Given the description of an element on the screen output the (x, y) to click on. 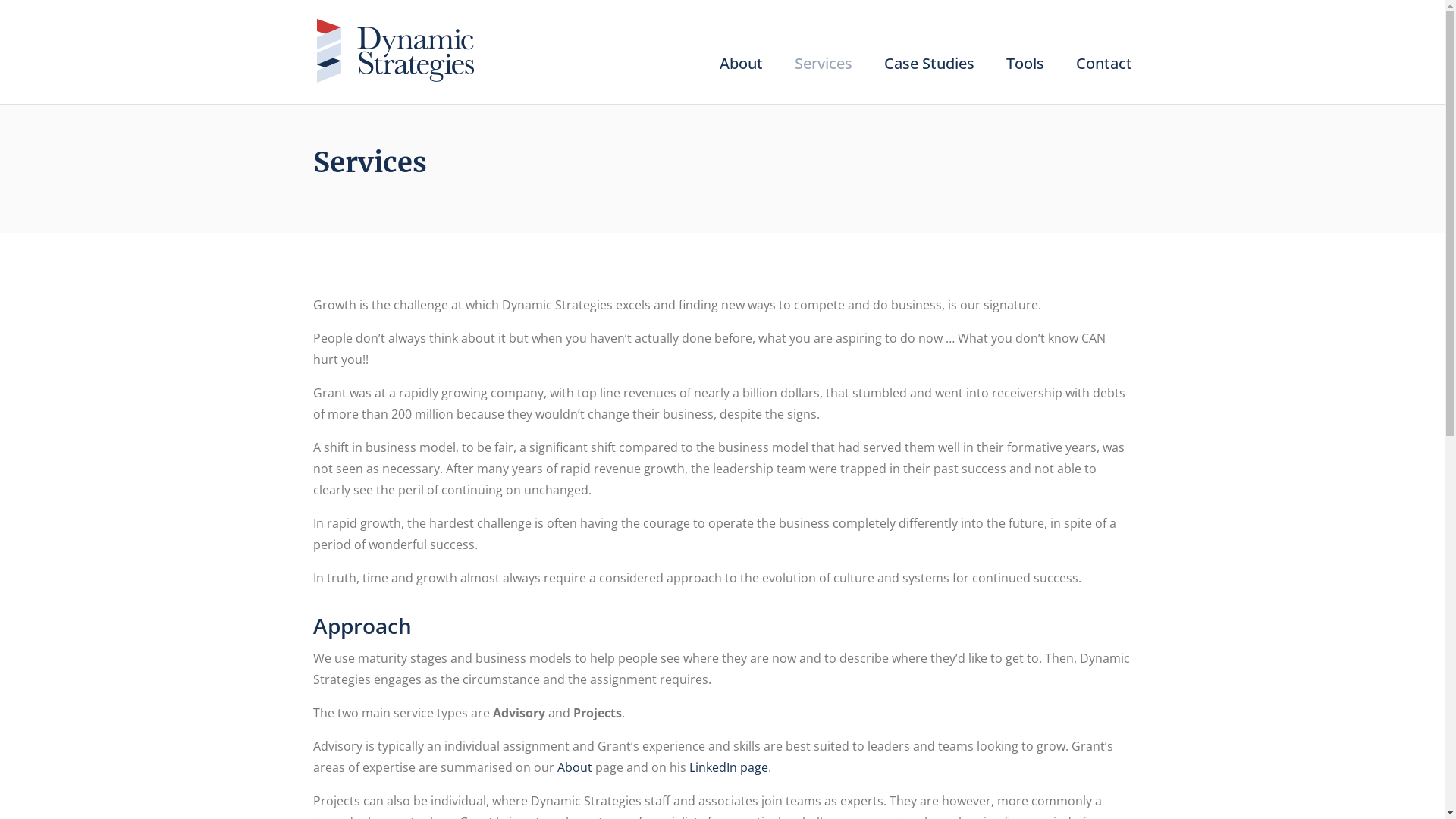
Services Element type: text (823, 74)
Case Studies Element type: text (929, 74)
About Element type: text (740, 74)
About Element type: text (573, 767)
Contact Element type: text (1103, 74)
LinkedIn page Element type: text (727, 767)
Tools Element type: text (1024, 74)
